Given the description of an element on the screen output the (x, y) to click on. 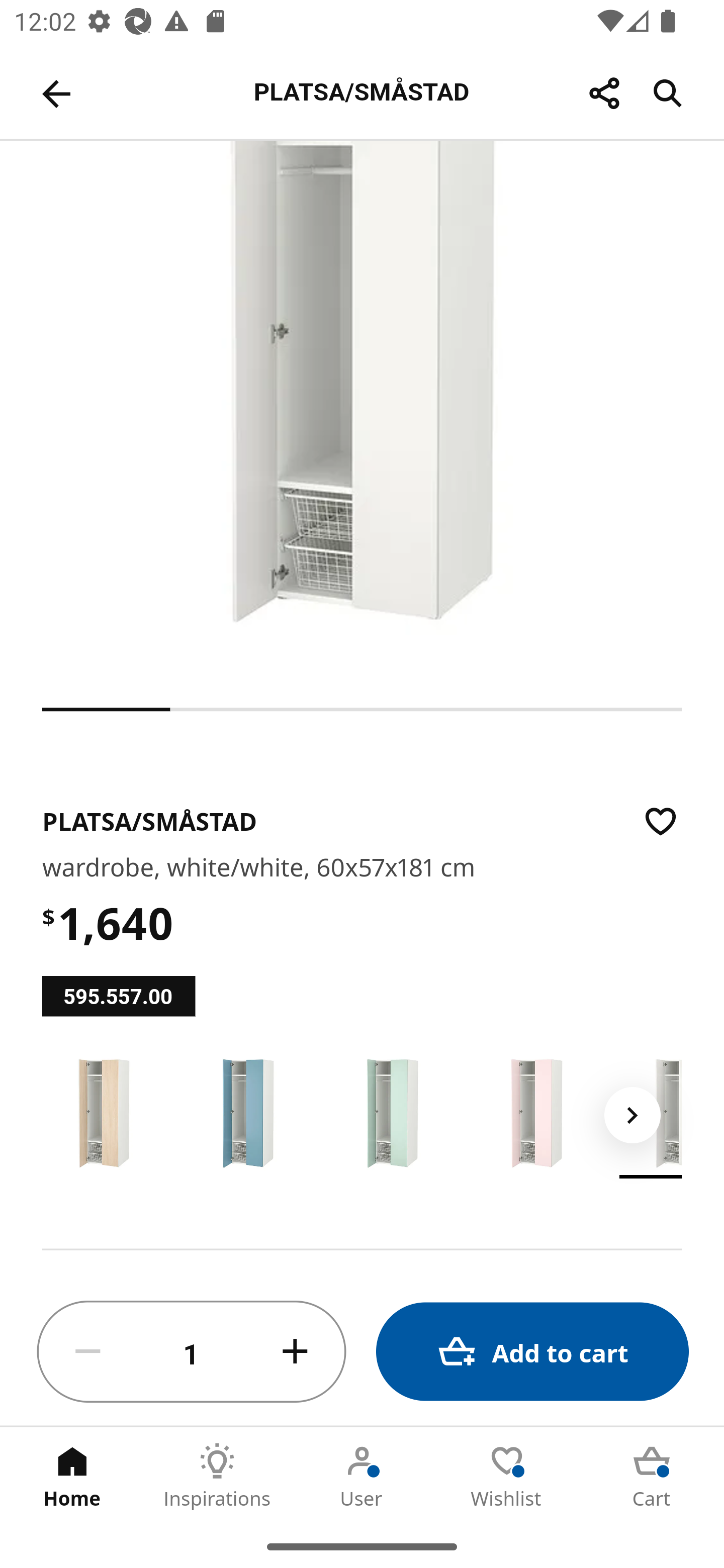
Add to cart (531, 1352)
1 (191, 1352)
Home
Tab 1 of 5 (72, 1476)
Inspirations
Tab 2 of 5 (216, 1476)
User
Tab 3 of 5 (361, 1476)
Wishlist
Tab 4 of 5 (506, 1476)
Cart
Tab 5 of 5 (651, 1476)
